Given the description of an element on the screen output the (x, y) to click on. 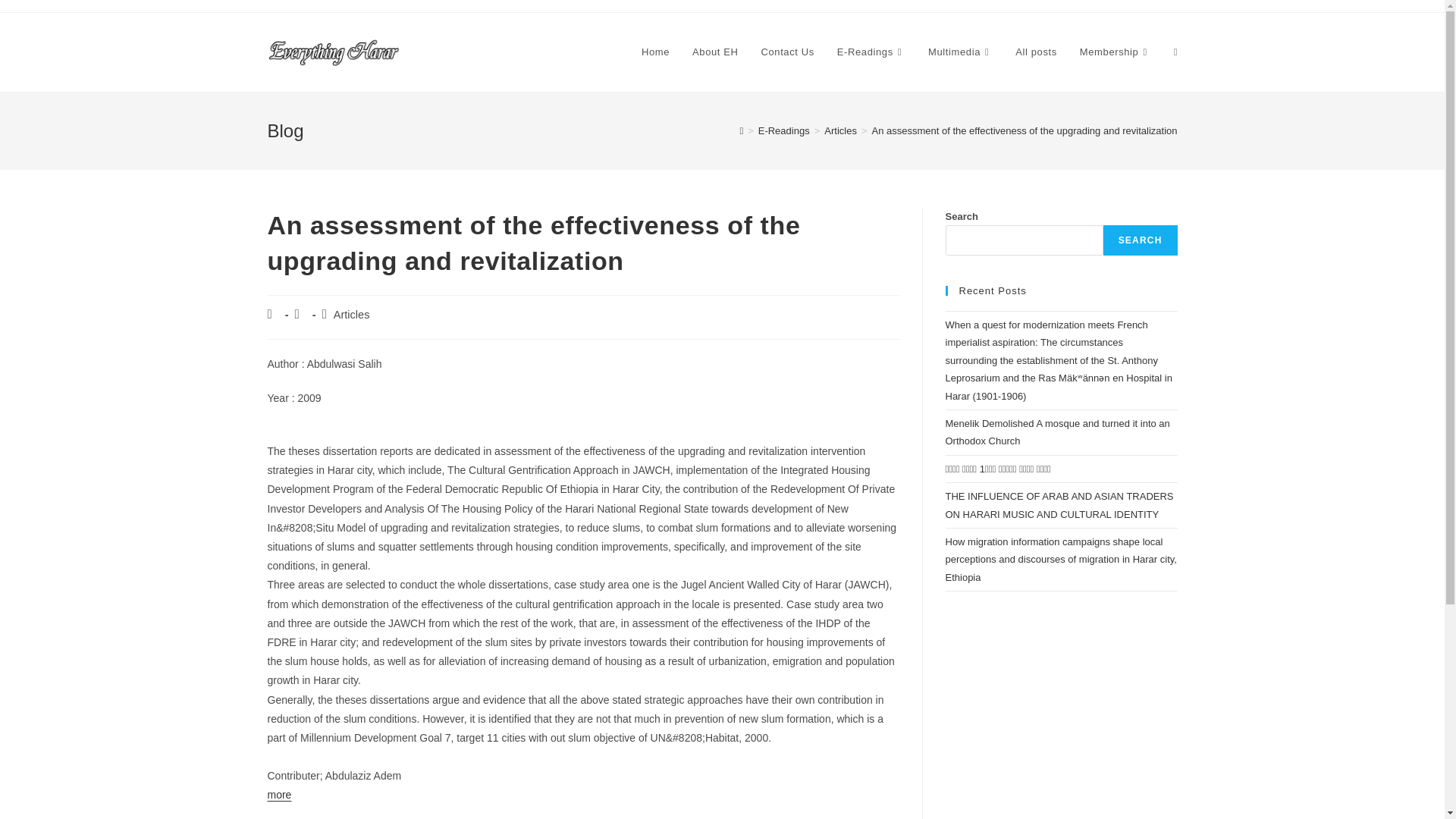
All posts (1036, 52)
E-Readings (871, 52)
Multimedia (960, 52)
Contact Us (787, 52)
About EH (715, 52)
Home (655, 52)
Membership (1114, 52)
